Given the description of an element on the screen output the (x, y) to click on. 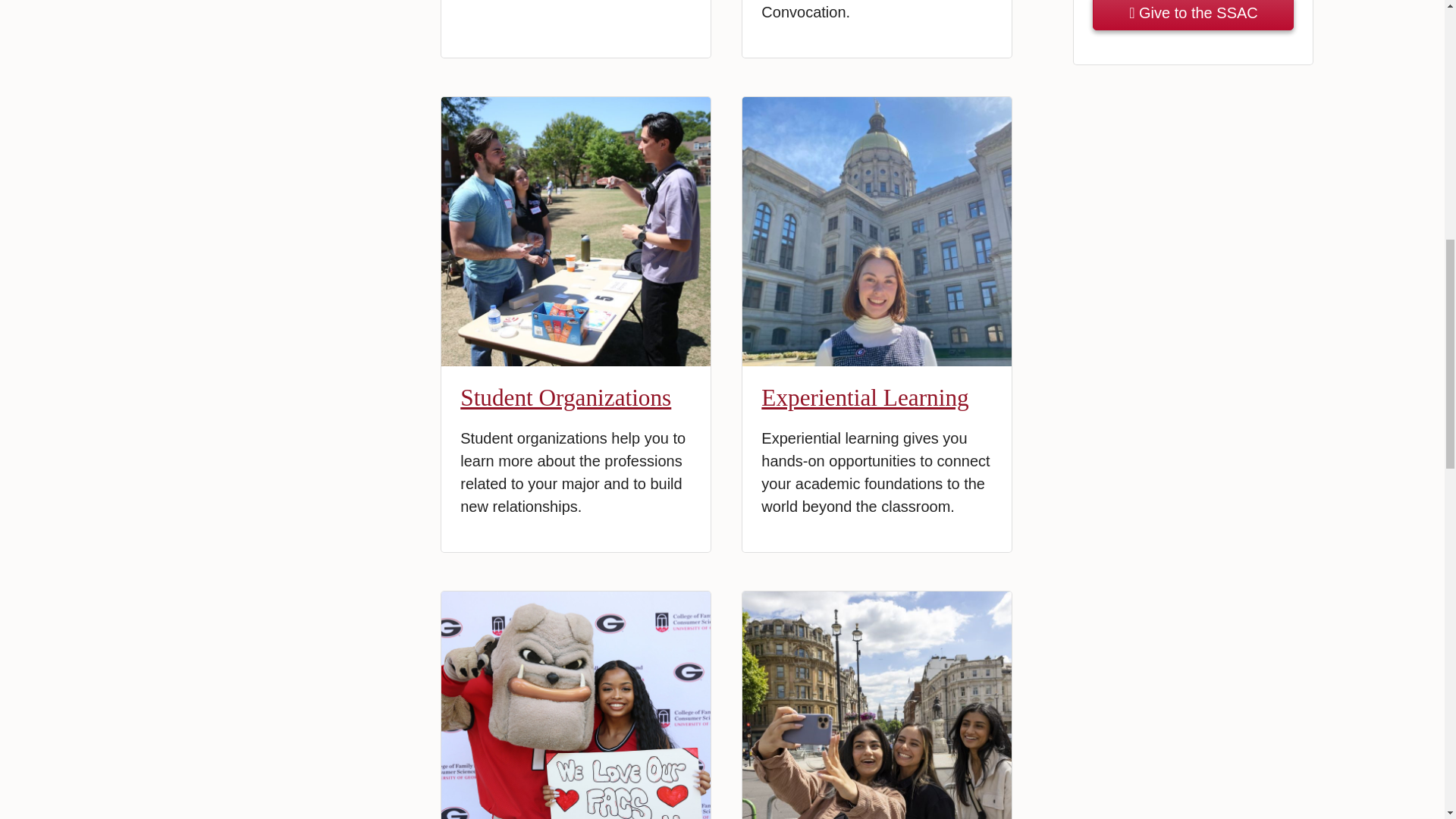
Student Organizations (565, 397)
Experiential Learning (864, 397)
Give to the SSAC (1193, 15)
Jump to page top (1421, 19)
